Given the description of an element on the screen output the (x, y) to click on. 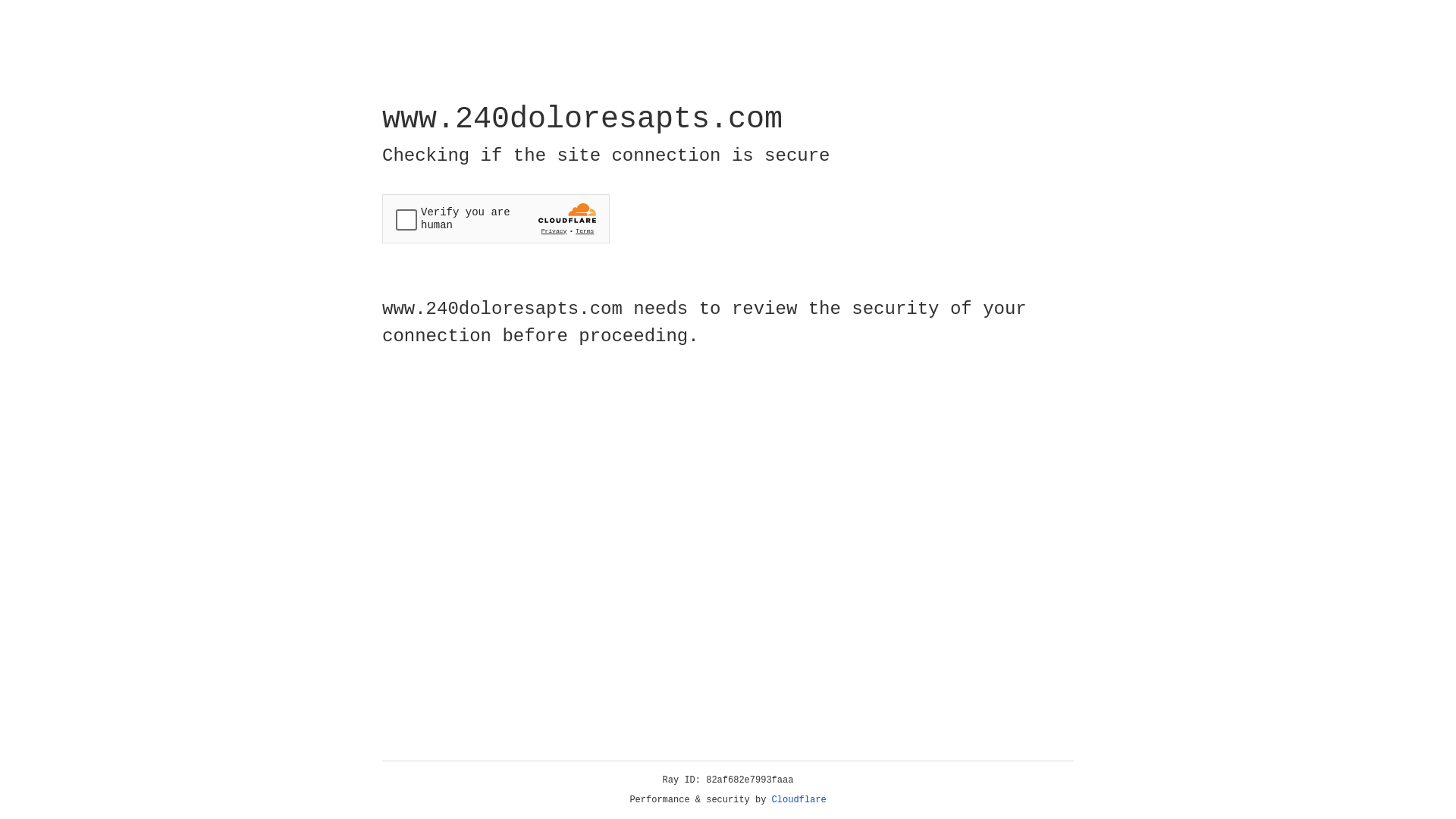
Widget containing a Cloudflare security challenge Element type: hover (495, 218)
Cloudflare Element type: text (798, 799)
